Given the description of an element on the screen output the (x, y) to click on. 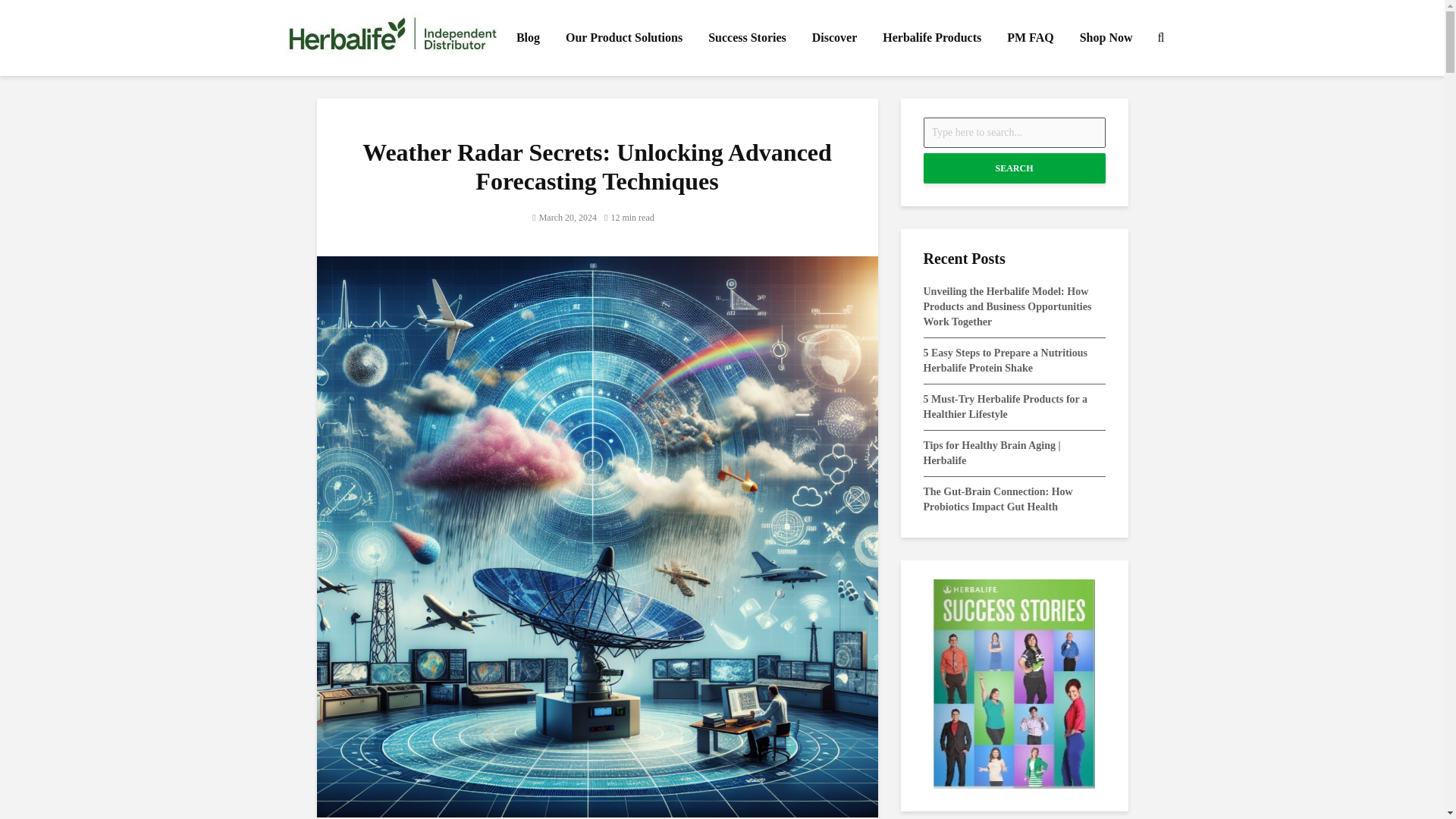
Our Product Solutions (624, 37)
Success Stories (747, 37)
PM FAQ (1029, 37)
Shop Now (1106, 37)
Herbalife Products (931, 37)
Discover (834, 37)
Blog (528, 37)
